Given the description of an element on the screen output the (x, y) to click on. 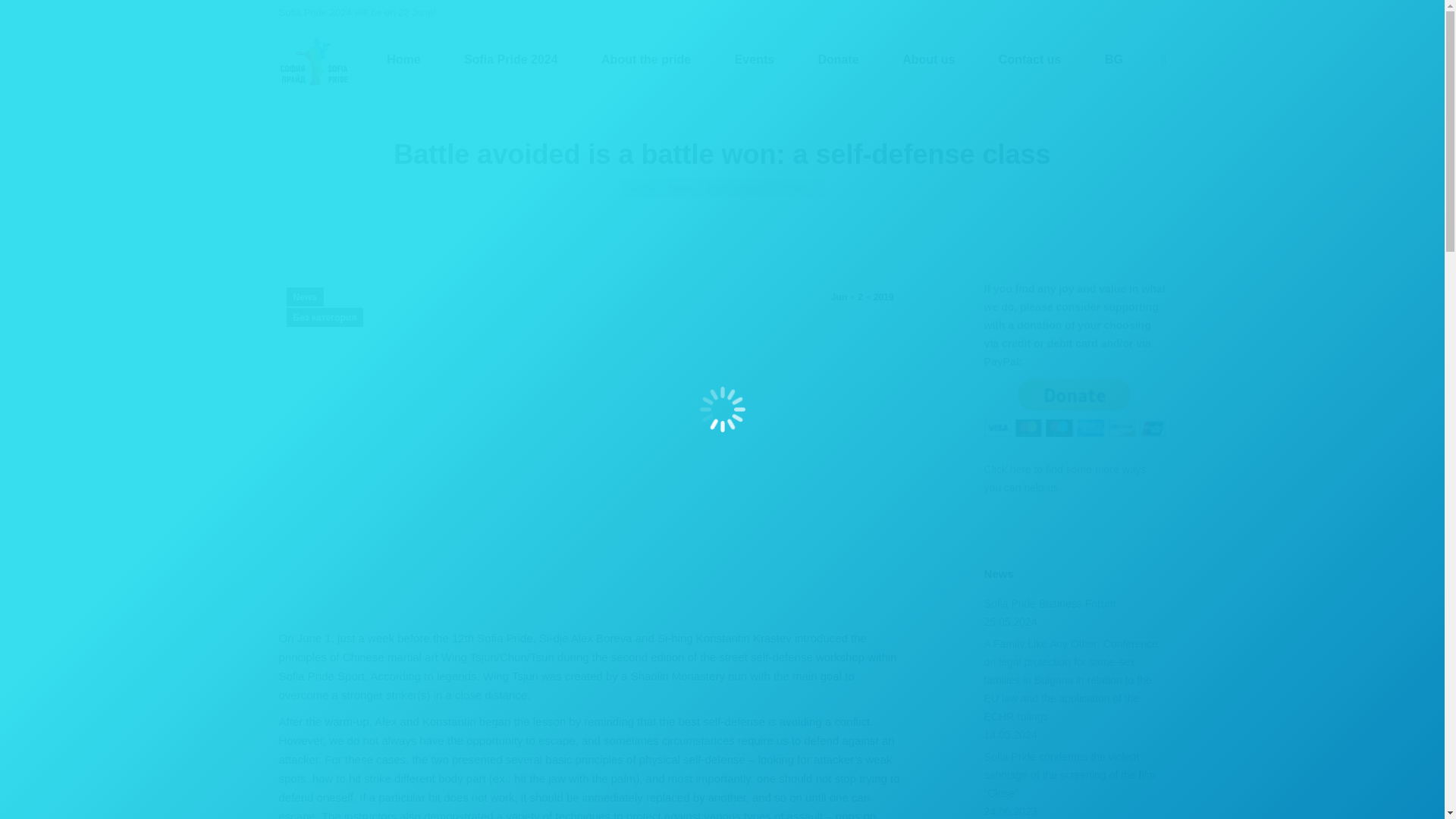
Go! (861, 296)
Home (24, 16)
YouTube page opens in new window (403, 60)
News (1152, 12)
Events (679, 188)
BG (754, 60)
About us (1113, 60)
About the pride (927, 60)
News (646, 60)
